Given the description of an element on the screen output the (x, y) to click on. 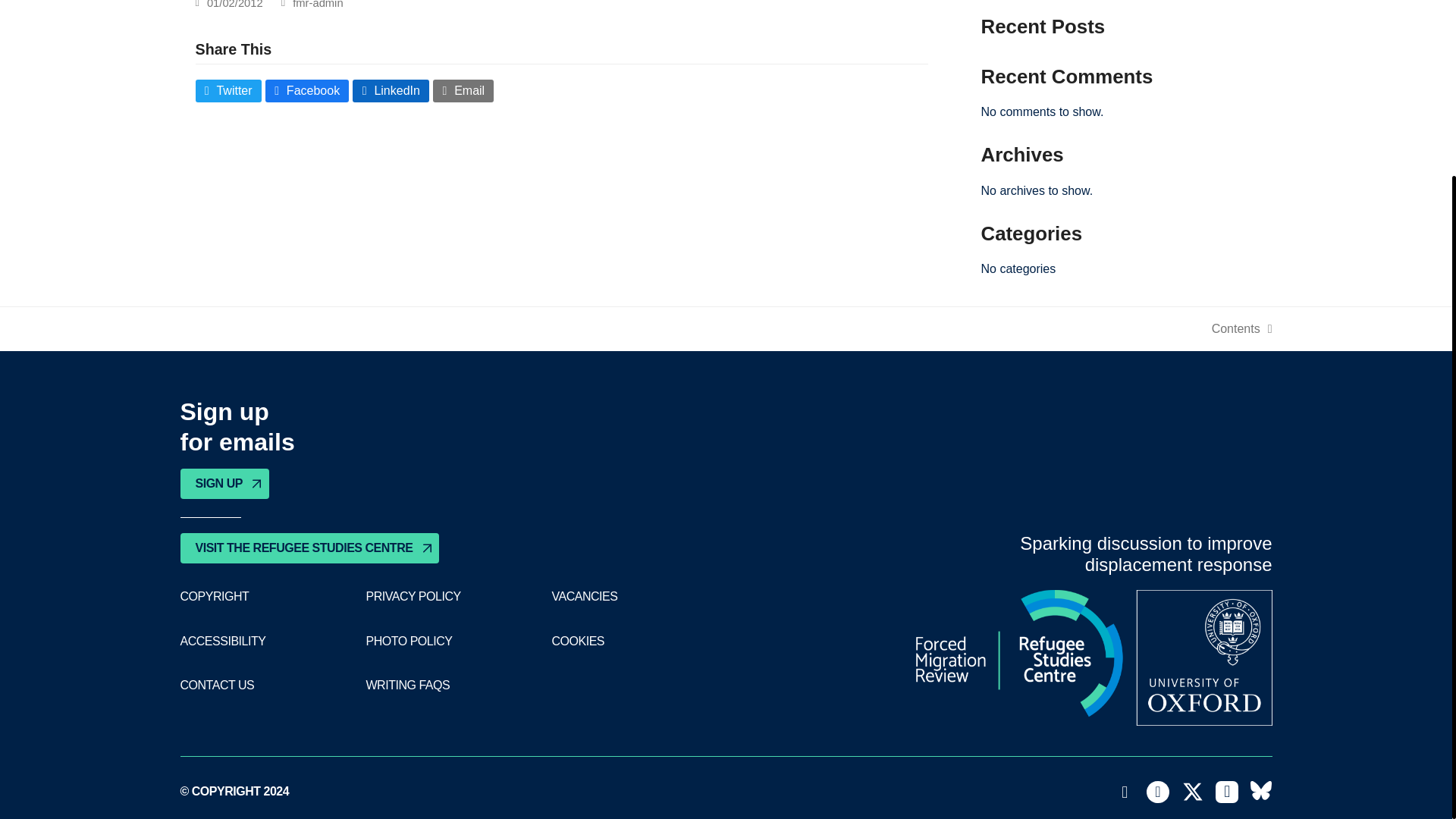
LinkedIn (390, 90)
SIGN UP (224, 483)
WRITING FAQS (407, 685)
Twitter (228, 90)
Twitter (1192, 791)
Email (1241, 328)
Posts by fmr-admin (1124, 791)
Email (317, 4)
fmr-admin (462, 90)
CONTACT US (317, 4)
LinkedIn (217, 685)
Facebook (1227, 792)
Facebook (306, 90)
VISIT THE REFUGEE STUDIES CENTRE (1158, 792)
